Given the description of an element on the screen output the (x, y) to click on. 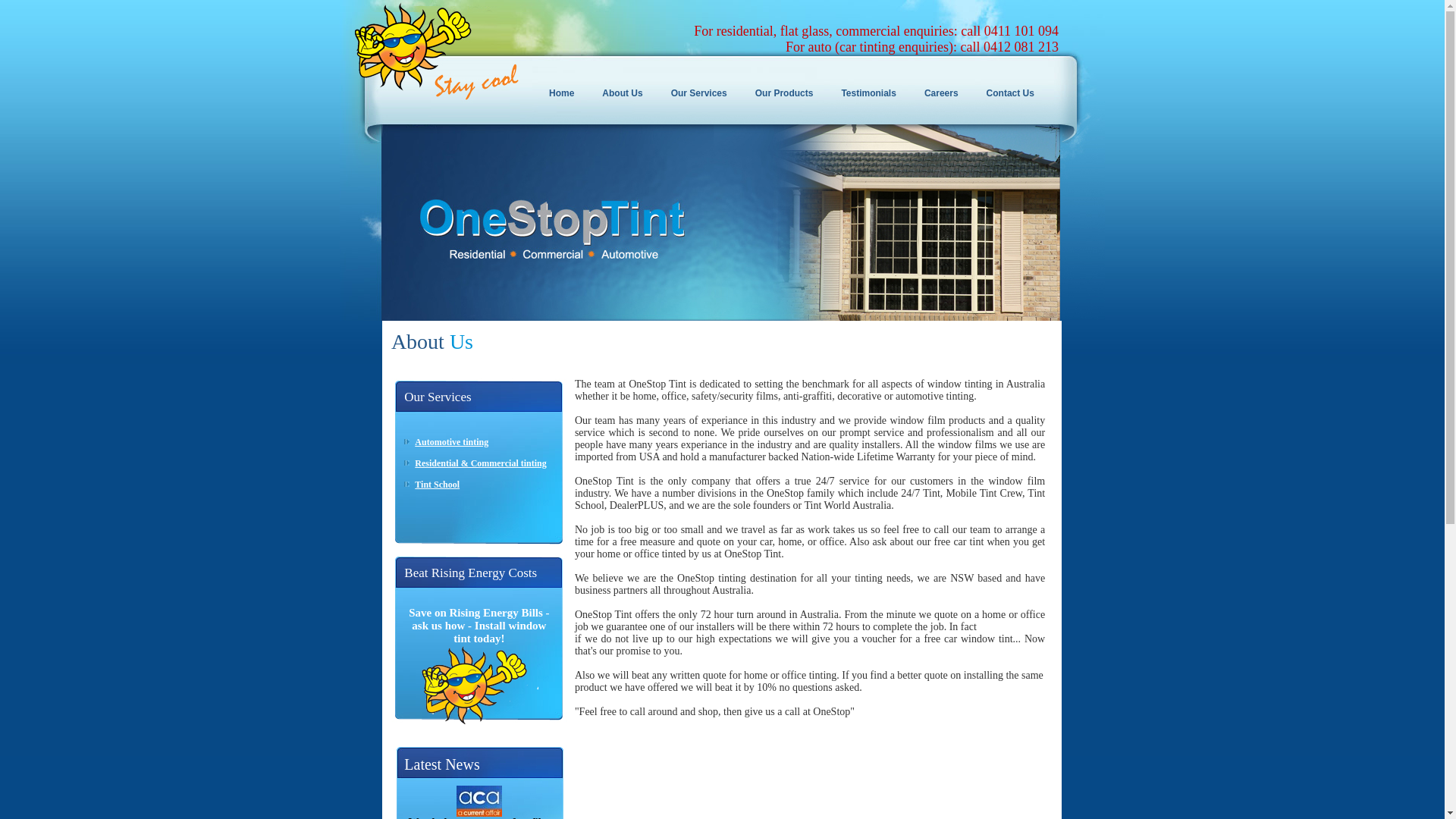
About Us Element type: text (626, 93)
Our Services Element type: text (703, 93)
Testimonials Element type: text (872, 93)
Our Products Element type: text (788, 93)
Contact Us Element type: text (1014, 93)
Careers Element type: text (945, 93)
Automotive tinting Element type: text (451, 441)
Home Element type: text (565, 93)
Tint School Element type: text (436, 484)
Residential & Commercial tinting Element type: text (480, 463)
